Given the description of an element on the screen output the (x, y) to click on. 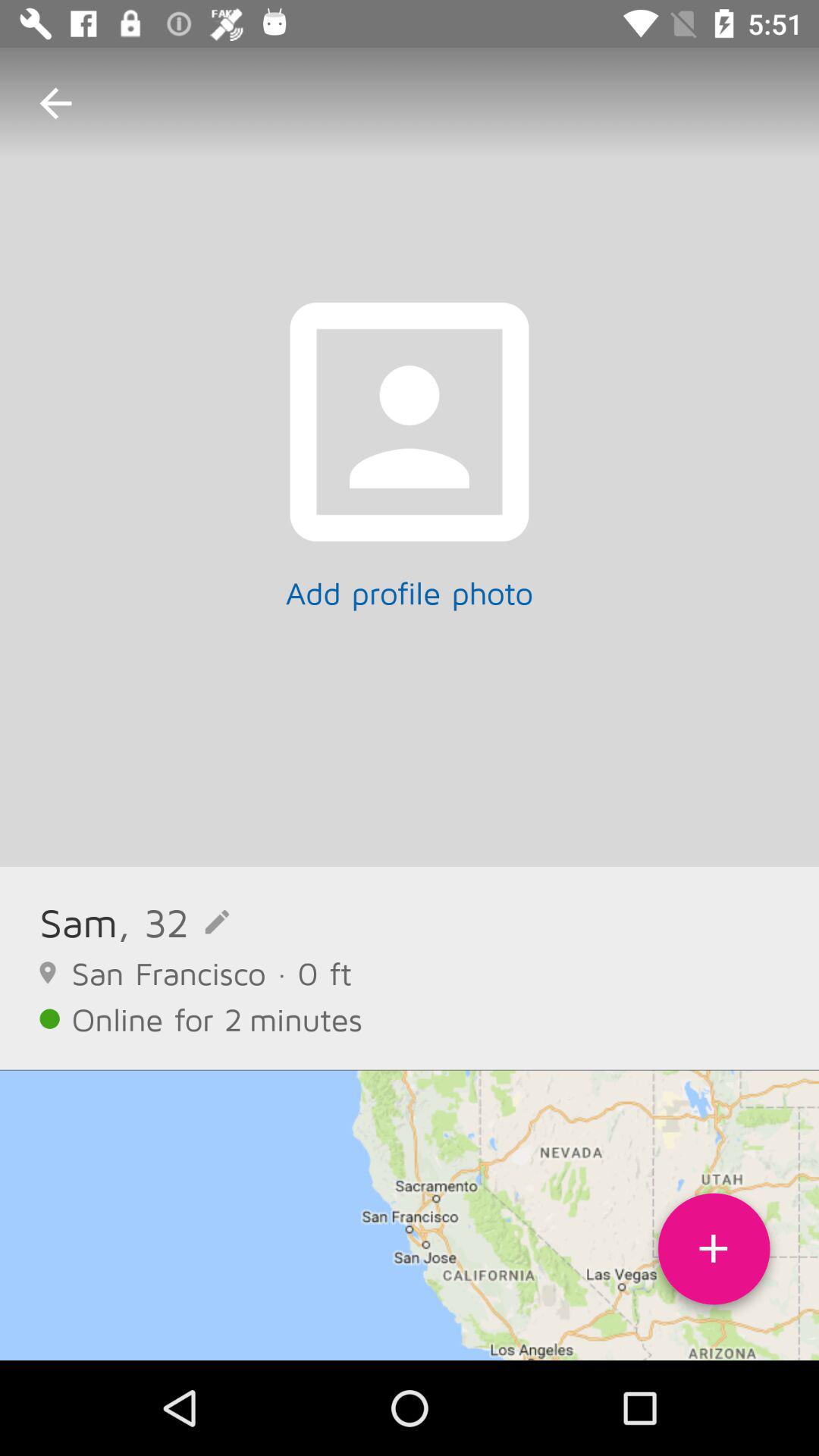
turn off the sam (78, 921)
